Given the description of an element on the screen output the (x, y) to click on. 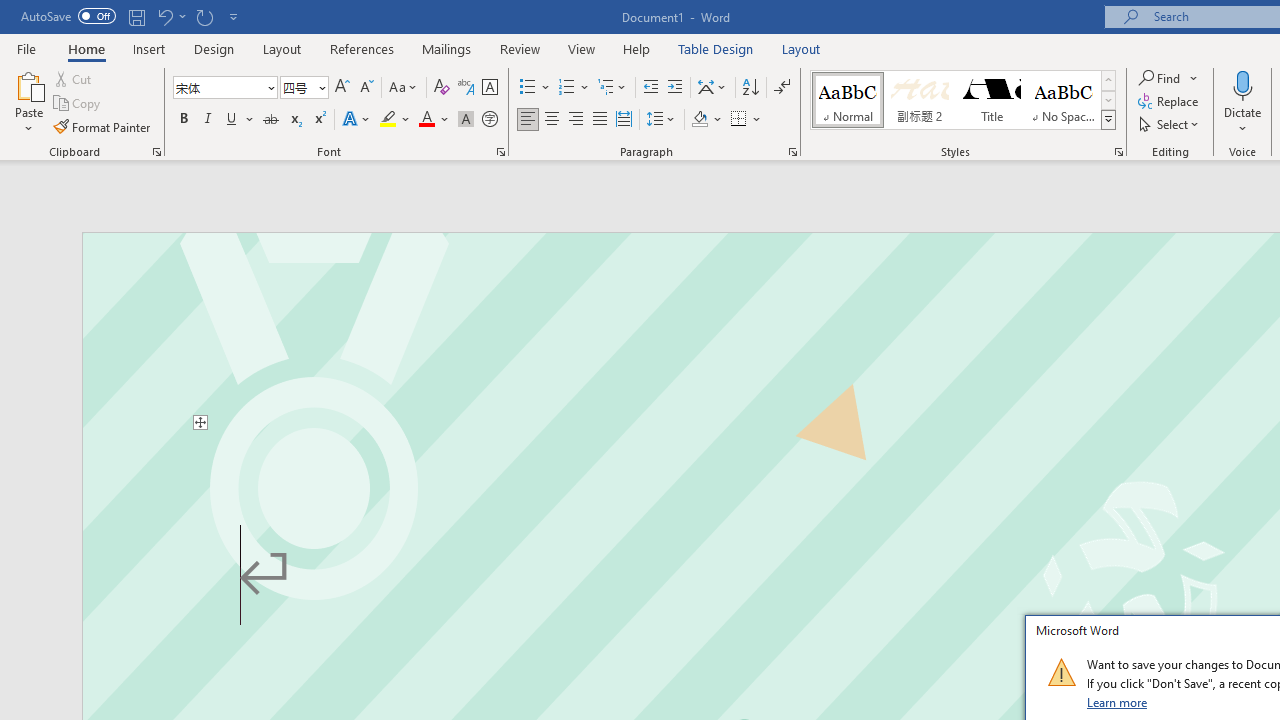
Select (1170, 124)
Replace... (1169, 101)
